Given the description of an element on the screen output the (x, y) to click on. 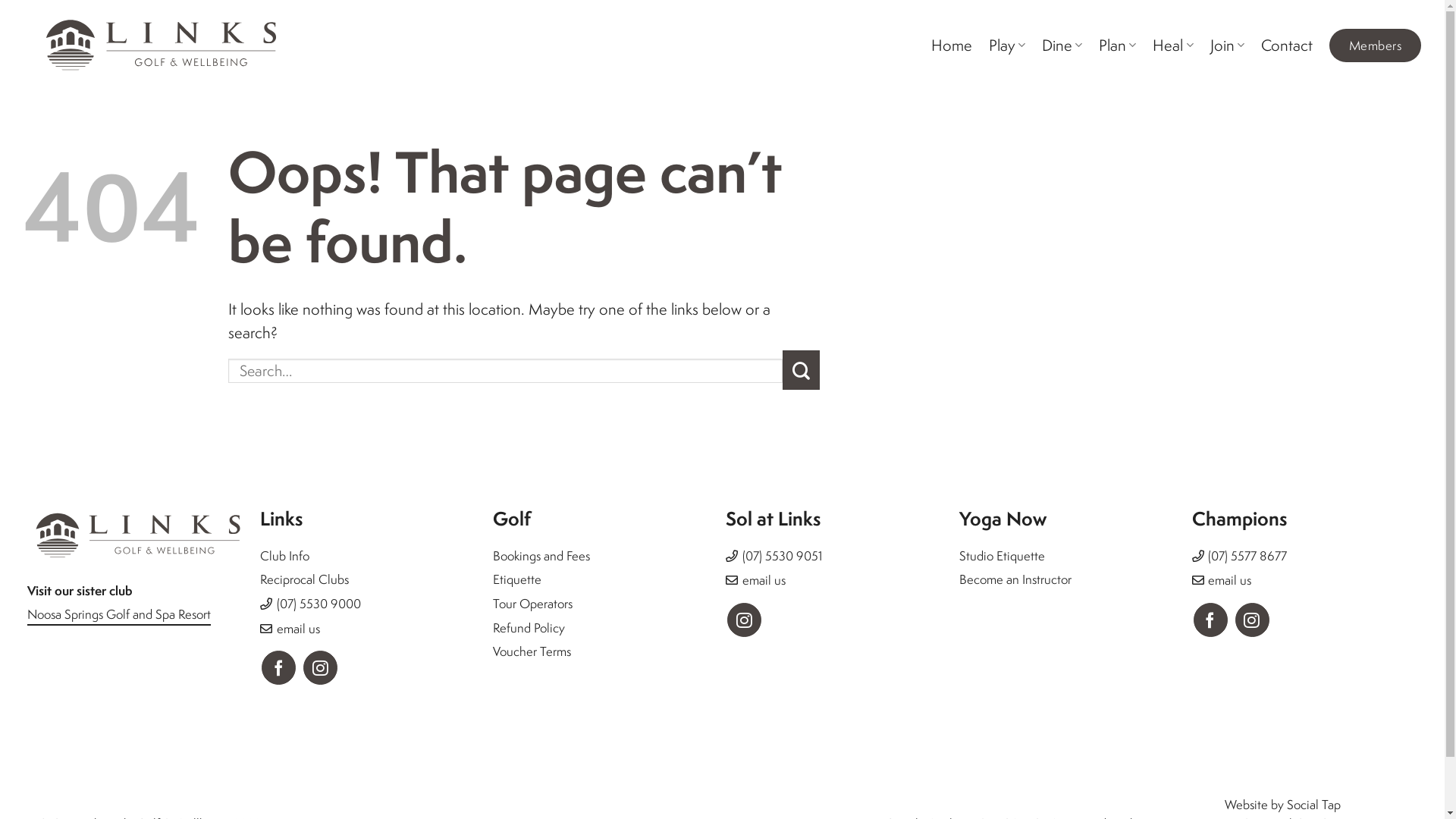
Studio Etiquette Element type: text (1001, 555)
(07) 5577 8677 Element type: text (1247, 555)
Contact Element type: text (1286, 45)
Skip to content Element type: text (0, 0)
(07) 5530 9000 Element type: text (318, 602)
Become an Instructor Element type: text (1015, 578)
Follow on Instagram Element type: hover (744, 619)
Tour Operators Element type: text (532, 602)
Follow on Instagram Element type: hover (320, 667)
Bookings and Fees Element type: text (540, 555)
Join Element type: text (1227, 45)
email us Element type: text (298, 627)
(07) 5530 9051 Element type: text (782, 555)
Social Tap Element type: text (1313, 803)
Noosa Springs Golf and Spa Resort Element type: text (118, 613)
Home Element type: text (951, 45)
Voucher Terms Element type: text (531, 650)
Reciprocal Clubs Element type: text (304, 578)
email us Element type: text (1229, 579)
Etiquette Element type: text (516, 578)
Club Info Element type: text (284, 555)
Dine Element type: text (1061, 45)
Follow on Instagram Element type: hover (1252, 619)
Follow on Facebook Element type: hover (1210, 619)
Heal Element type: text (1172, 45)
Members Element type: text (1375, 45)
email us Element type: text (763, 579)
Play Element type: text (1006, 45)
Follow on Facebook Element type: hover (278, 667)
Plan Element type: text (1116, 45)
Refund Policy Element type: text (528, 627)
Links Golf & Wellbeing - Hope Island Golf Course Element type: hover (156, 44)
